Given the description of an element on the screen output the (x, y) to click on. 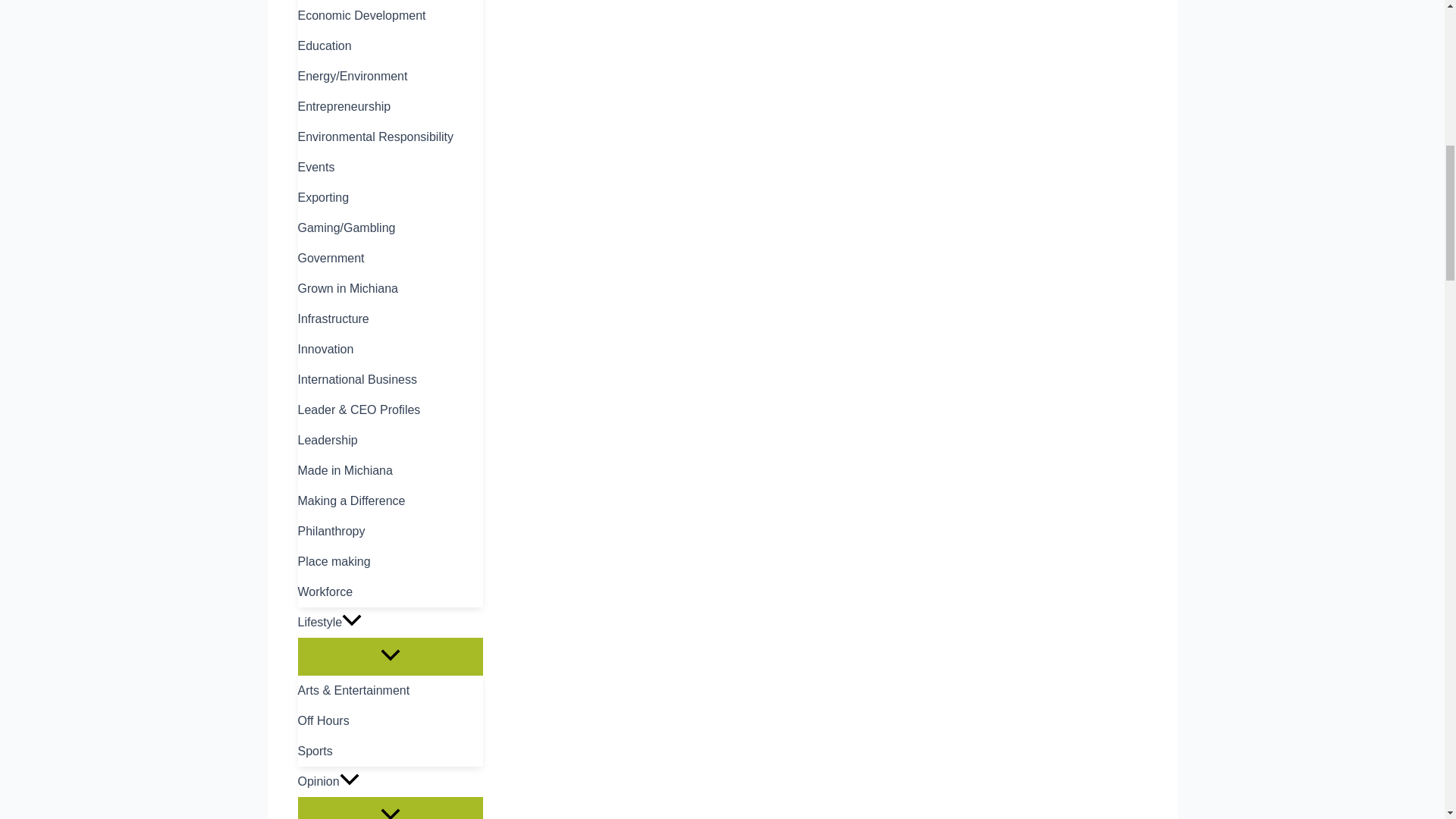
International Business (389, 379)
Exporting (389, 197)
Entrepreneurship (389, 106)
Government (389, 258)
Education (389, 46)
Economic Development (389, 15)
Infrastructure (389, 318)
Innovation (389, 349)
Grown in Michiana (389, 288)
Environmental Responsibility (389, 137)
